Given the description of an element on the screen output the (x, y) to click on. 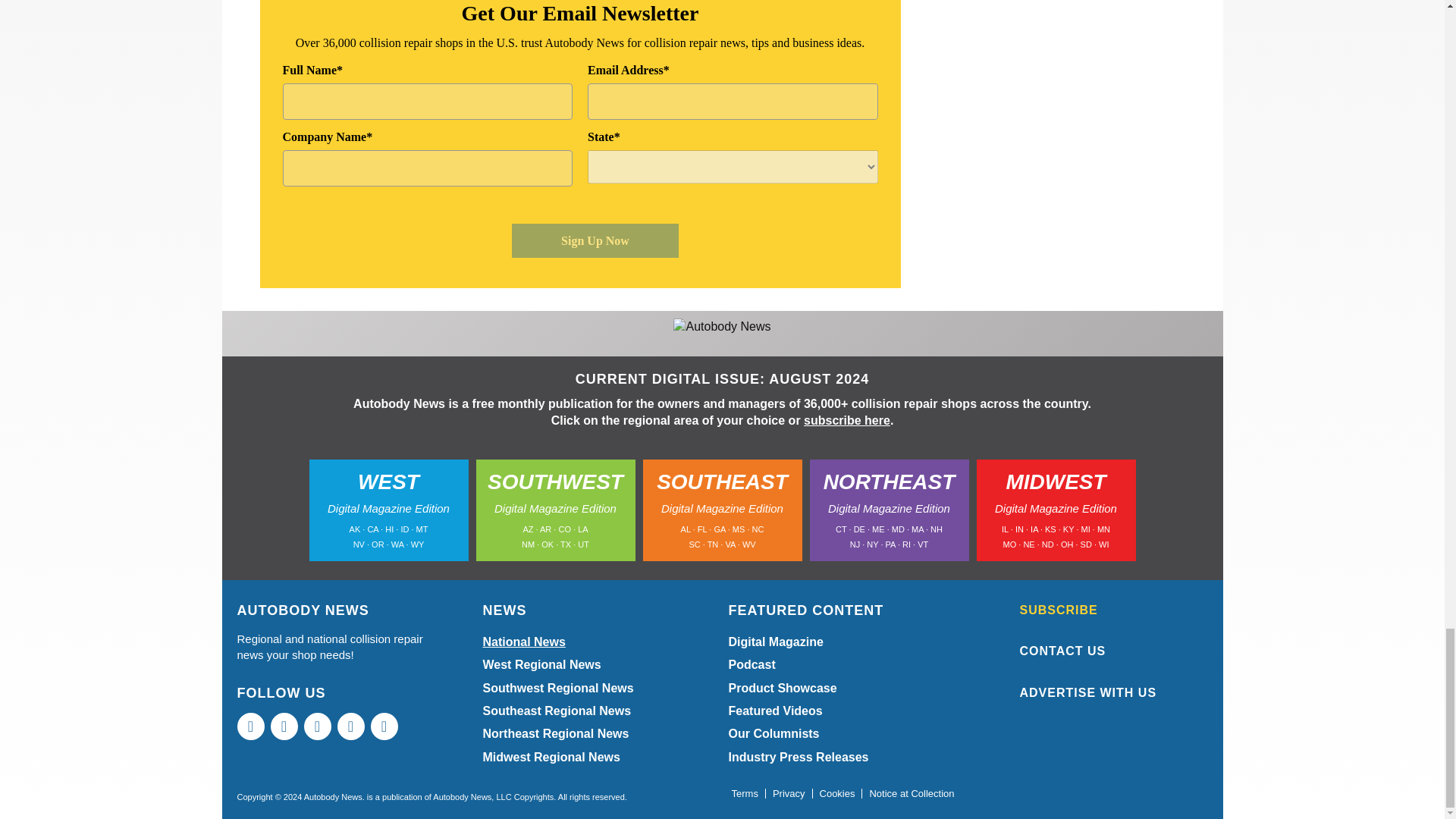
Auto Body News Privacy Policy (789, 793)
Auto Body News Cookie Policy (837, 793)
Auto Body News Notice at Collection Policy (911, 793)
